Given the description of an element on the screen output the (x, y) to click on. 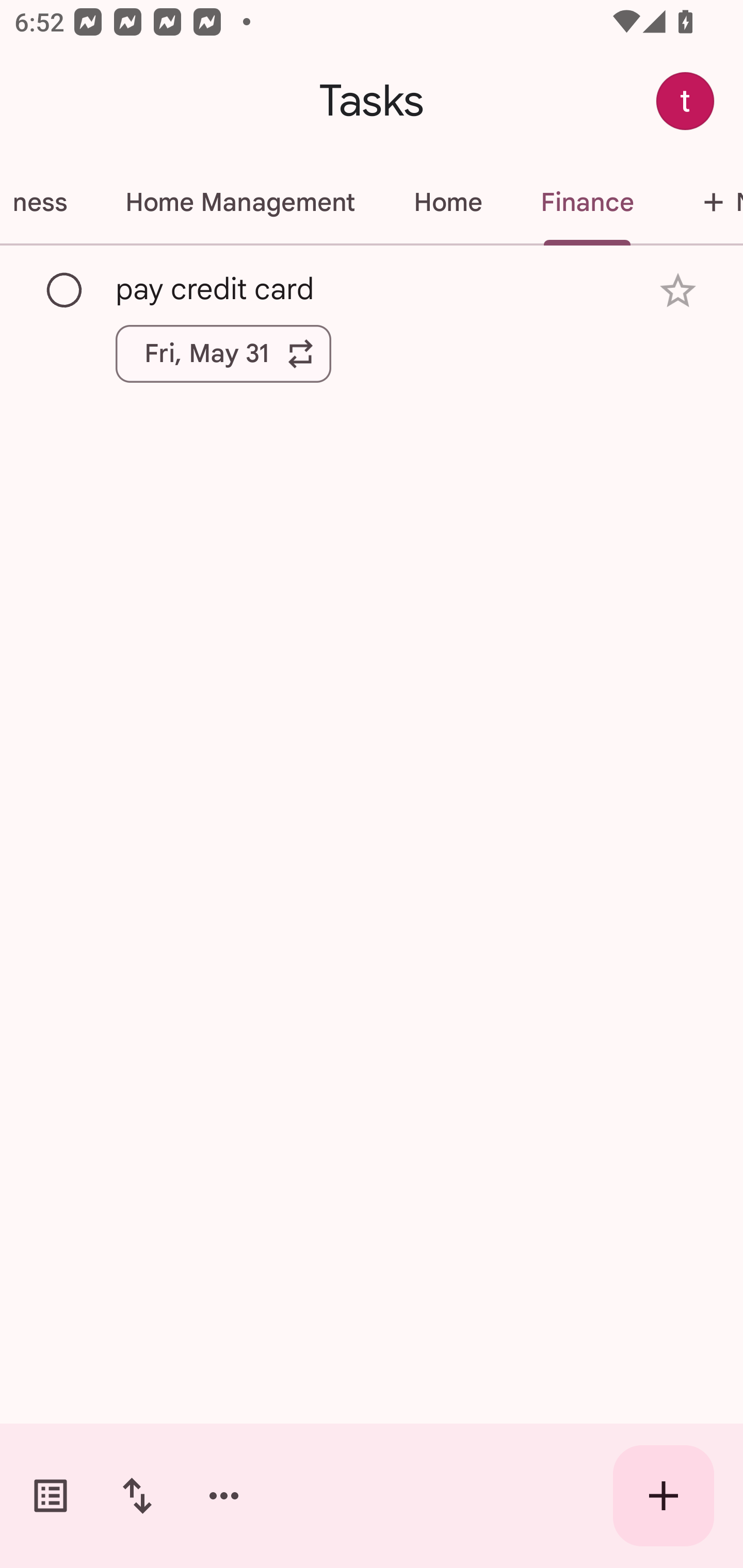
Fitness (47, 202)
Home Management (239, 202)
Home (447, 202)
Add star (677, 290)
Mark as complete (64, 290)
Fri, May 31 (223, 353)
Switch task lists (50, 1495)
Create new task (663, 1495)
Change sort order (136, 1495)
More options (223, 1495)
